Given the description of an element on the screen output the (x, y) to click on. 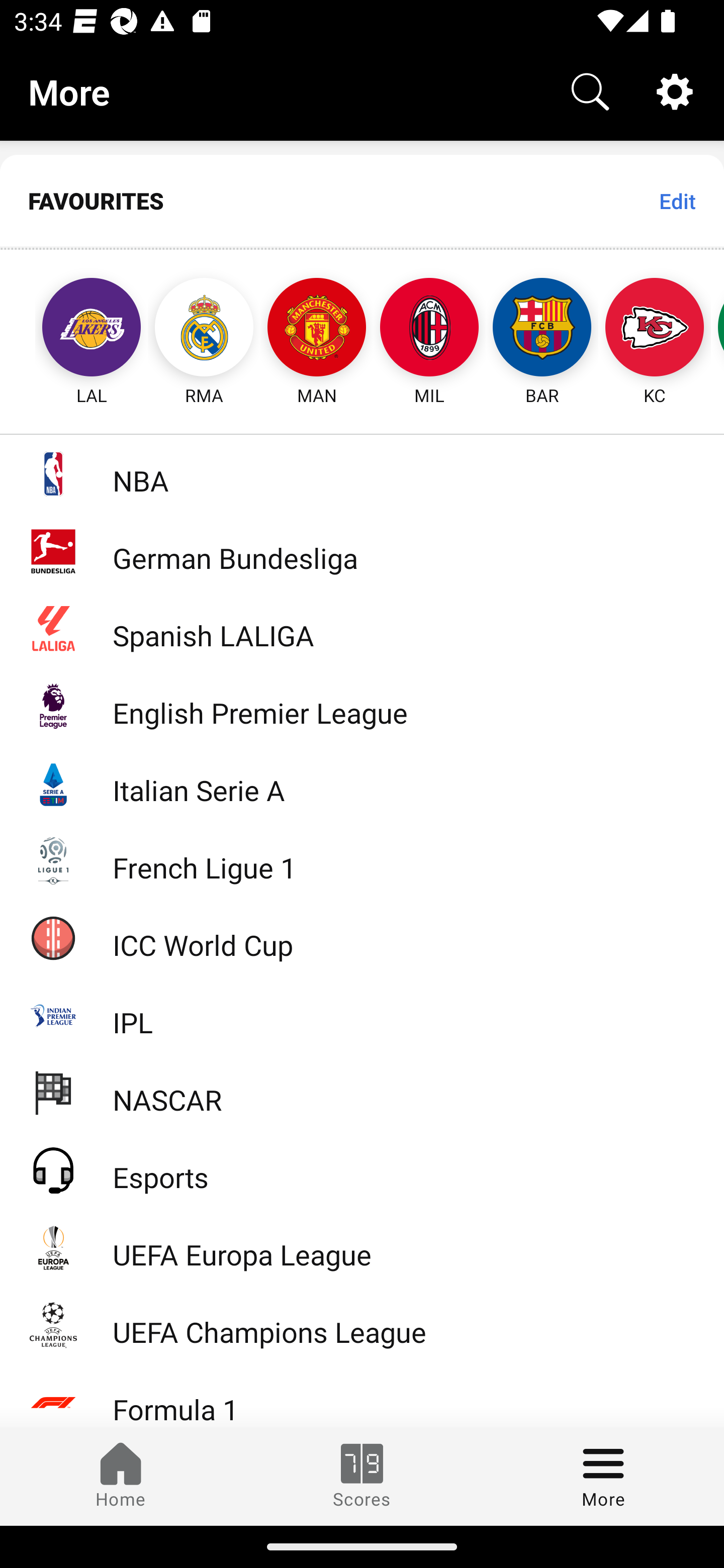
Search (590, 90)
Settings (674, 90)
Edit (676, 200)
LAL Los Angeles Lakers (73, 328)
RMA Real Madrid (203, 328)
MAN Manchester United (316, 328)
MIL AC Milan (428, 328)
BAR Barcelona (541, 328)
KC Kansas City Chiefs (654, 328)
NBA (362, 473)
German Bundesliga (362, 550)
Spanish LALIGA (362, 627)
English Premier League (362, 705)
Italian Serie A (362, 782)
French Ligue 1 (362, 859)
ICC World Cup (362, 937)
IPL (362, 1014)
NASCAR (362, 1091)
Esports (362, 1169)
UEFA Europa League (362, 1246)
UEFA Champions League (362, 1324)
Formula 1 (362, 1395)
Home (120, 1475)
Scores (361, 1475)
